Given the description of an element on the screen output the (x, y) to click on. 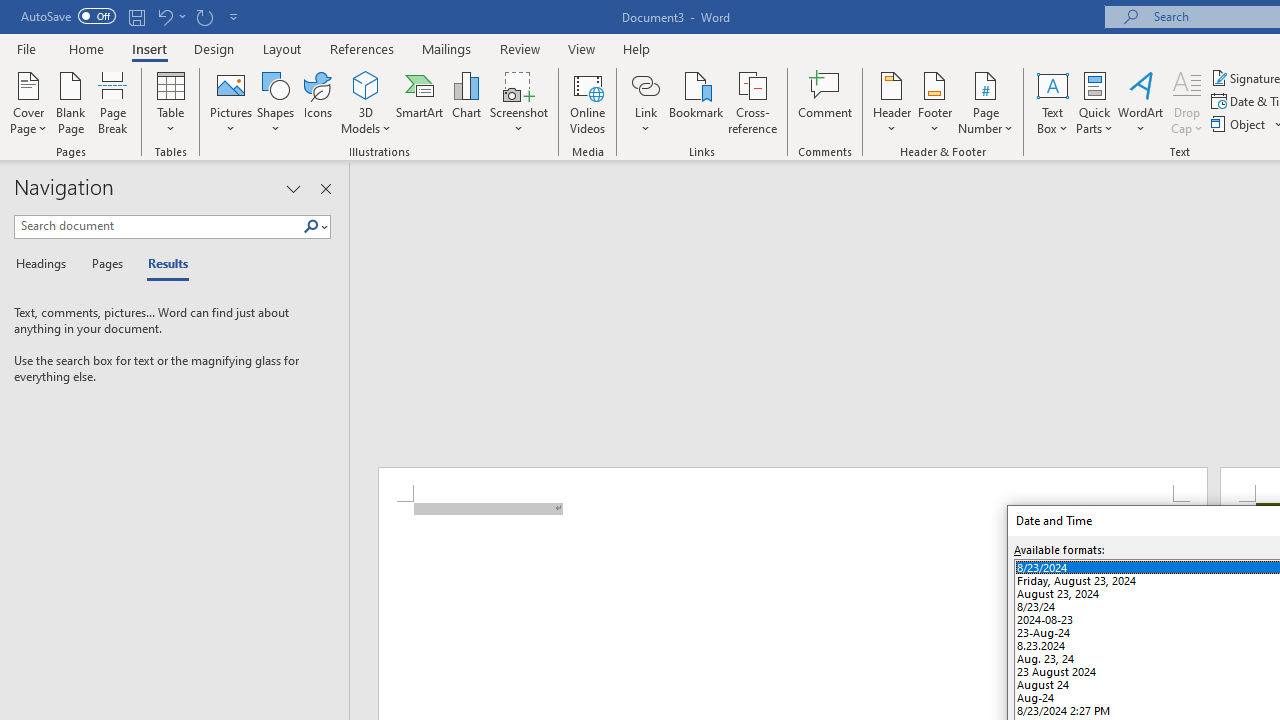
Screenshot (518, 102)
Page Break (113, 102)
3D Models (366, 102)
Drop Cap (1187, 102)
Online Videos... (588, 102)
Table (170, 102)
